Given the description of an element on the screen output the (x, y) to click on. 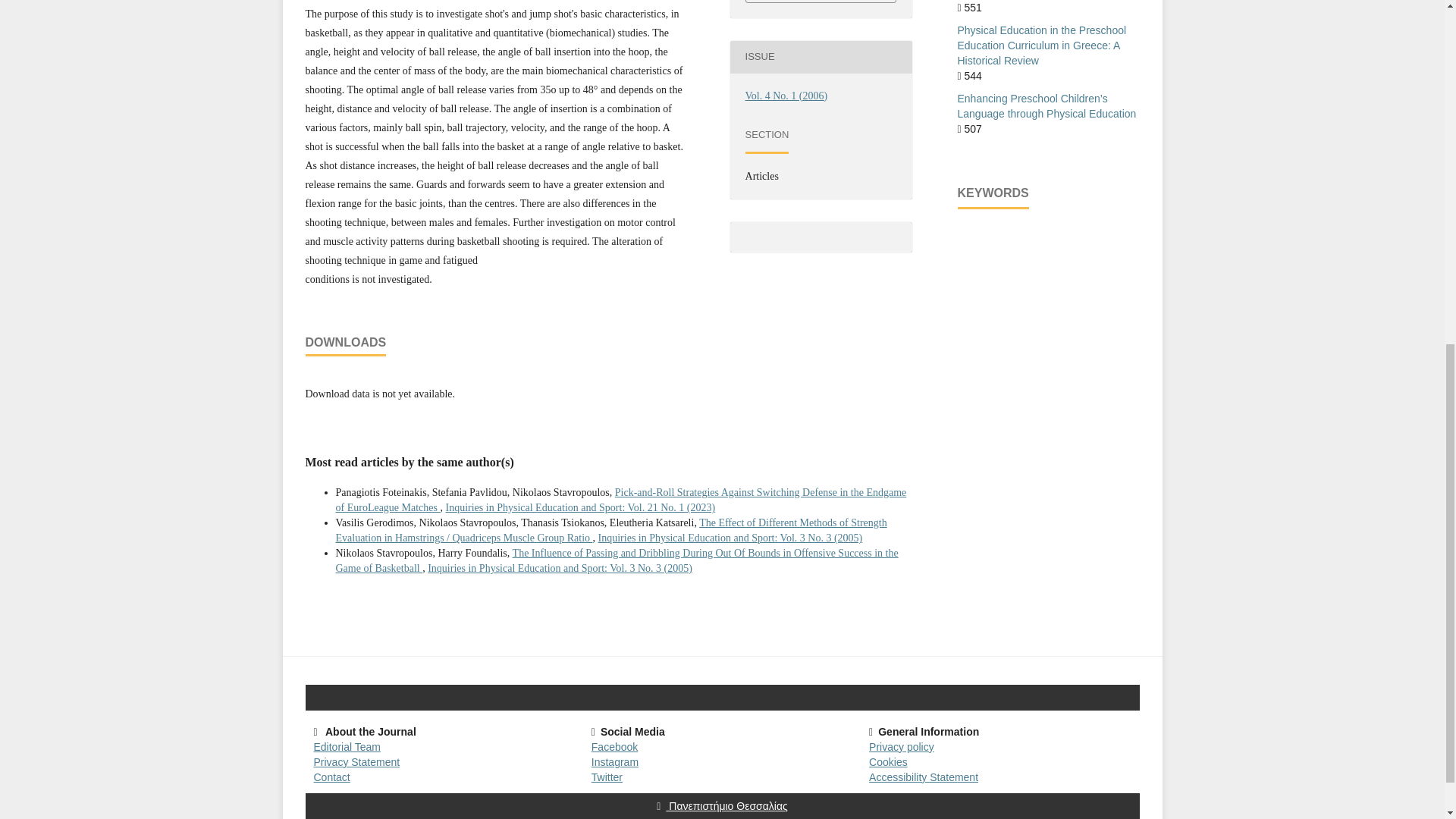
More Citation Formats (820, 1)
facebook (614, 746)
Contact (332, 776)
Accessibility Statement (923, 776)
Privacy Statement (357, 761)
Editorial Team (347, 746)
Twitter (607, 776)
Cookies (888, 761)
Privacy policy (901, 746)
Instagram (615, 761)
